Given the description of an element on the screen output the (x, y) to click on. 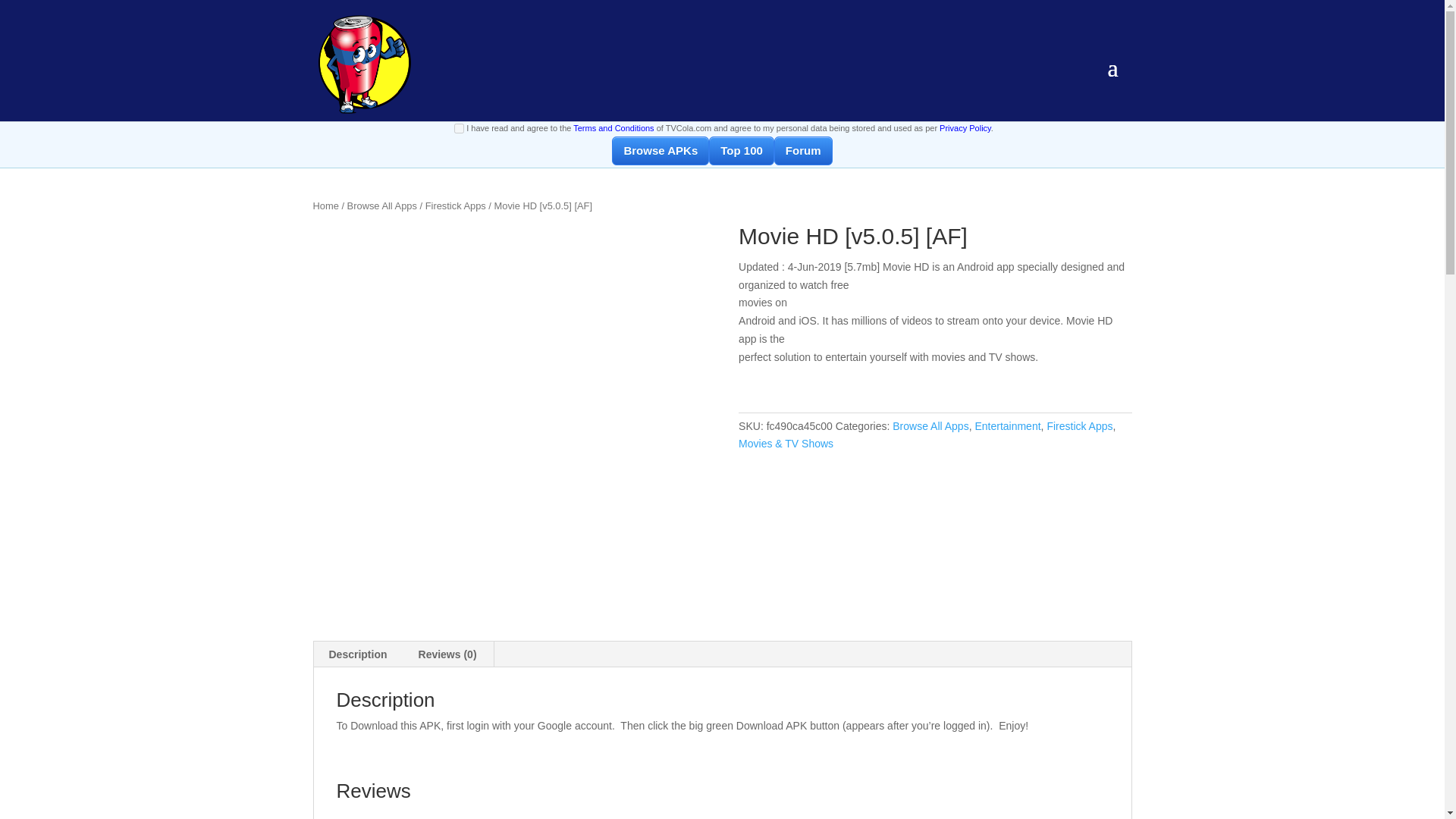
1 (459, 128)
Login with Google (722, 95)
Description (358, 654)
Terms and Conditions (613, 127)
Browse APKs (660, 150)
Browse All Apps (930, 426)
Entertainment (1007, 426)
Firestick Apps (1079, 426)
Top 100 (741, 150)
Forum (803, 150)
Browse All Apps (381, 205)
Home (325, 205)
Privacy Policy (965, 127)
Firestick Apps (455, 205)
